Given the description of an element on the screen output the (x, y) to click on. 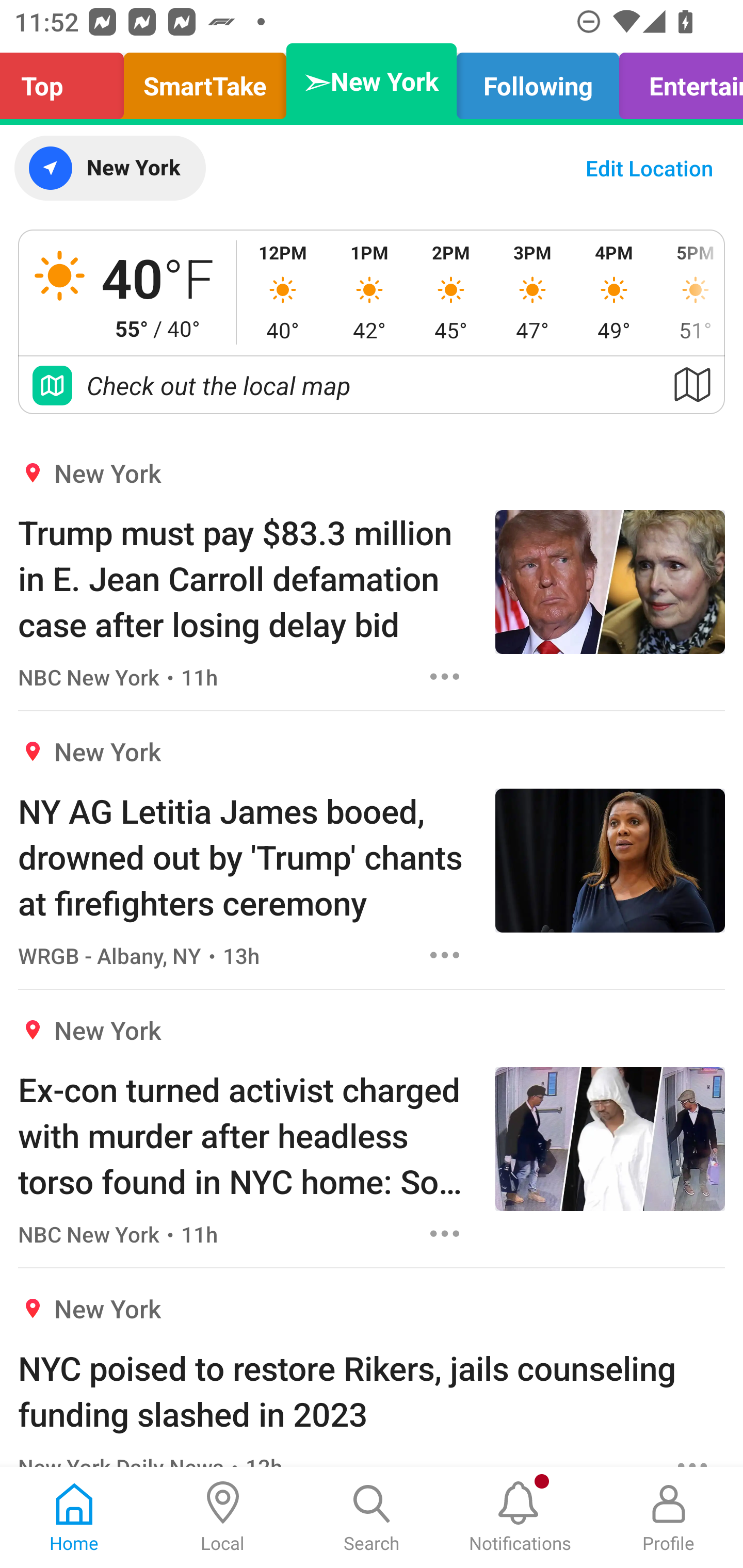
Top (67, 81)
SmartTake (204, 81)
➣New York (371, 81)
Following (537, 81)
New York (109, 168)
Edit Location (648, 168)
12PM 40° (282, 291)
1PM 42° (369, 291)
2PM 45° (450, 291)
3PM 47° (532, 291)
4PM 49° (613, 291)
5PM 51° (689, 291)
Check out the local map (371, 384)
Options (444, 676)
Options (444, 954)
Options (444, 1233)
Local (222, 1517)
Search (371, 1517)
Notifications, New notification Notifications (519, 1517)
Profile (668, 1517)
